Given the description of an element on the screen output the (x, y) to click on. 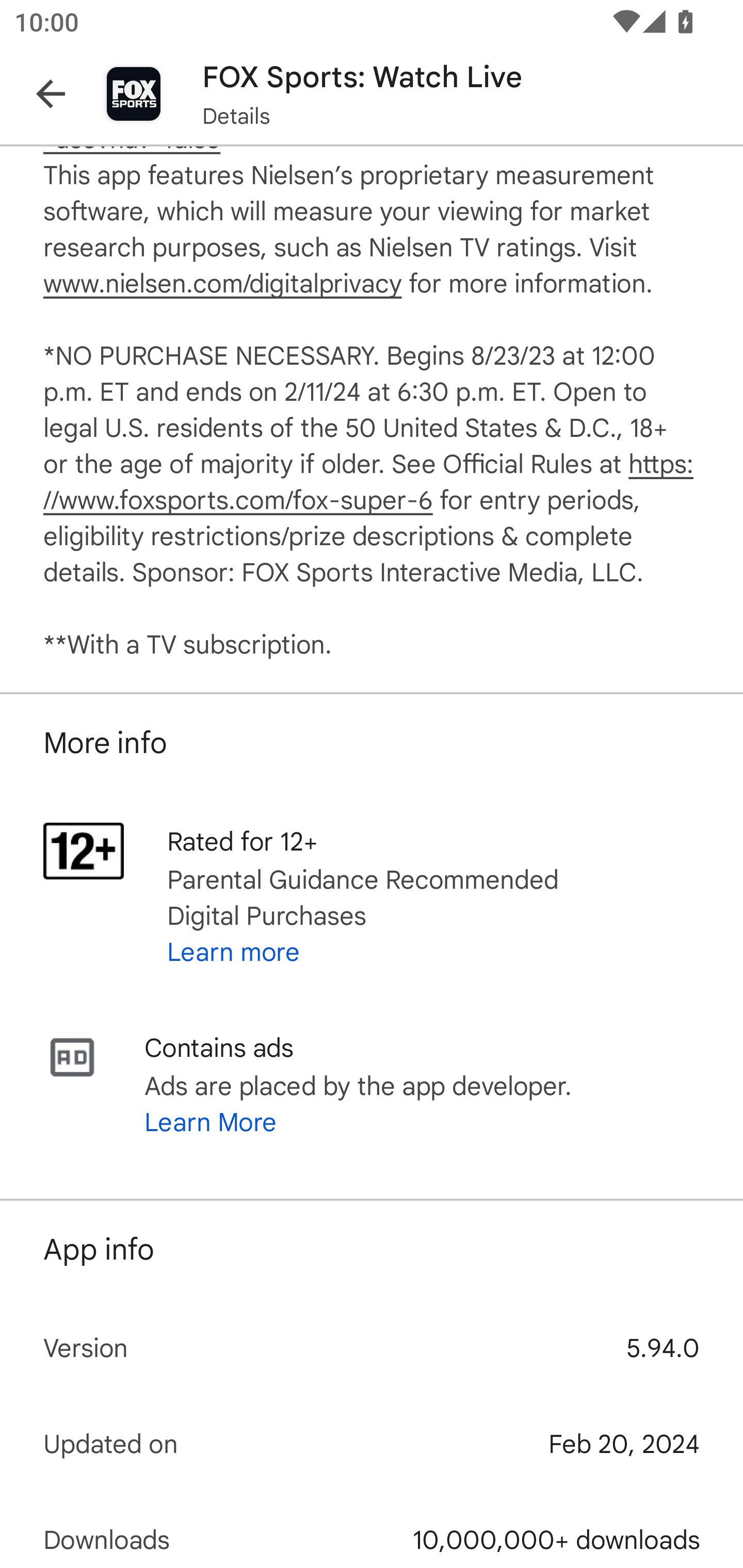
Navigate up (50, 93)
